Given the description of an element on the screen output the (x, y) to click on. 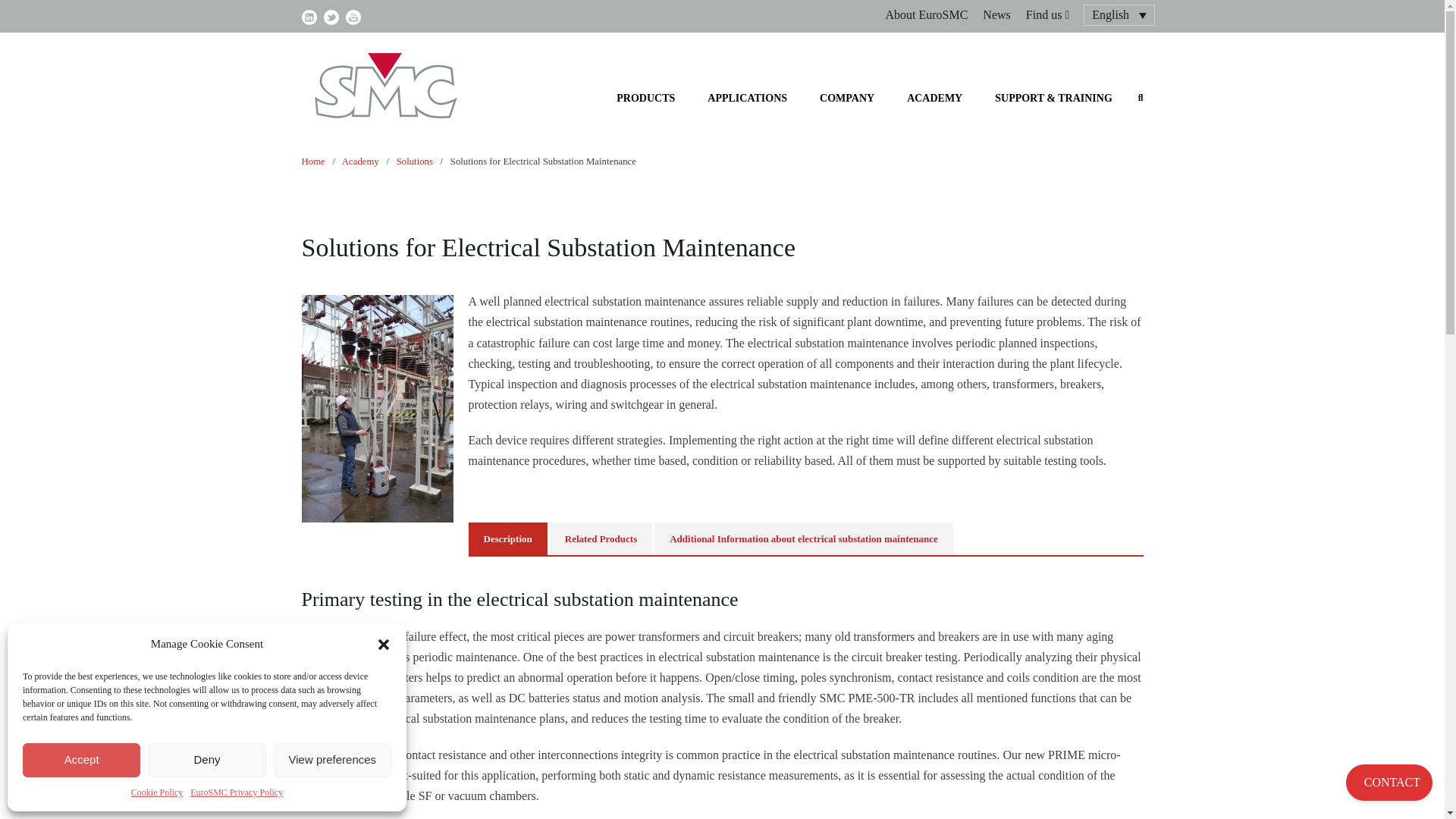
CONTACT (1389, 782)
News (996, 15)
Accept (81, 759)
Cookie Policy (157, 792)
EuroSMC Privacy Policy (236, 792)
English (1118, 14)
View preferences (332, 759)
Deny (206, 759)
Find us (1049, 15)
About EuroSMC (926, 15)
